Given the description of an element on the screen output the (x, y) to click on. 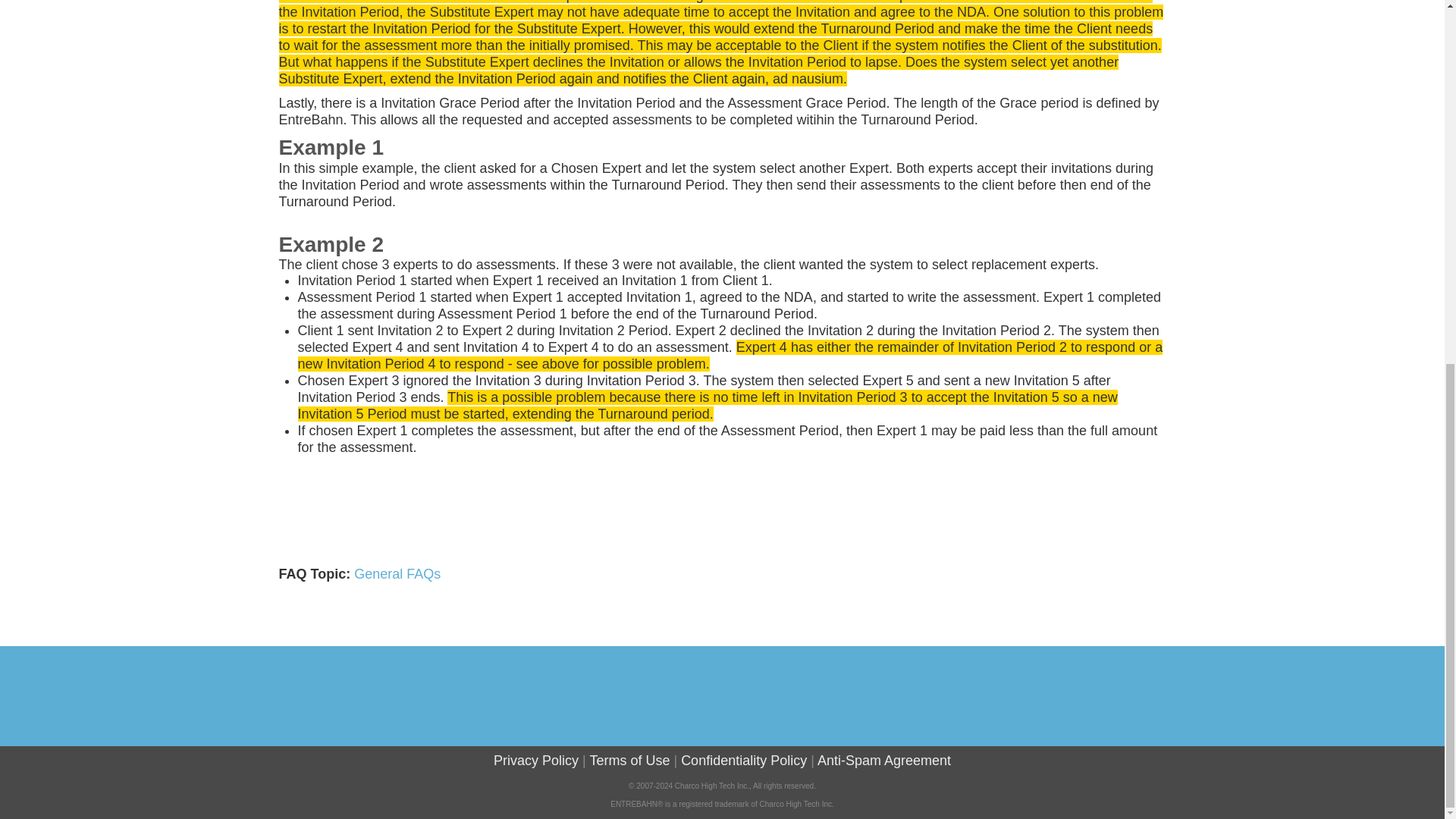
Anti-Spam Agreement (883, 760)
General FAQs (397, 573)
Terms of Use (629, 760)
Privacy Policy (535, 760)
Confidentiality Policy (743, 760)
